Given the description of an element on the screen output the (x, y) to click on. 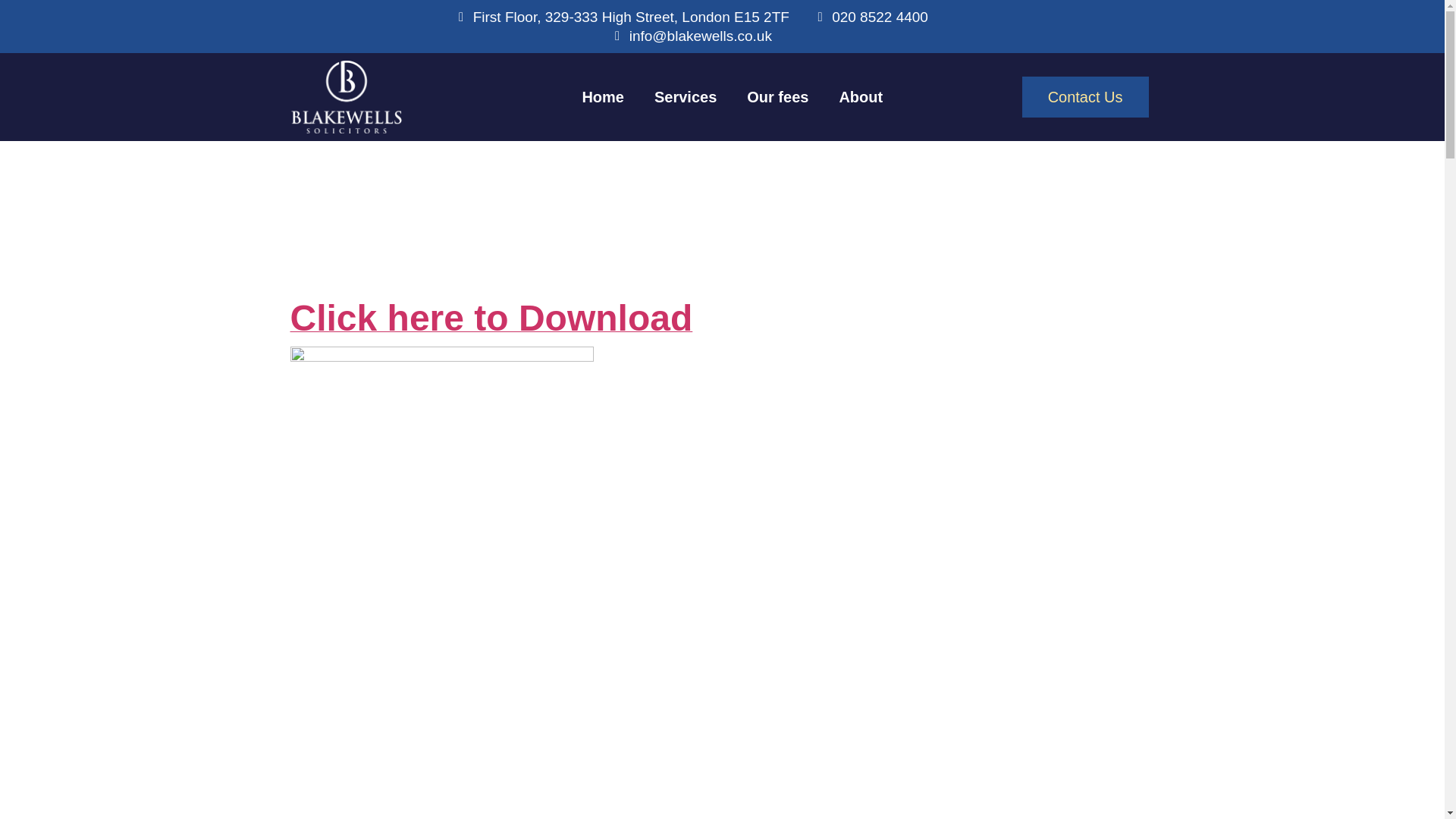
020 8522 4400 (870, 16)
About (861, 96)
Click here to Download (491, 325)
Home (602, 96)
Services (685, 96)
Our fees (778, 96)
Contact Us (1085, 96)
